Given the description of an element on the screen output the (x, y) to click on. 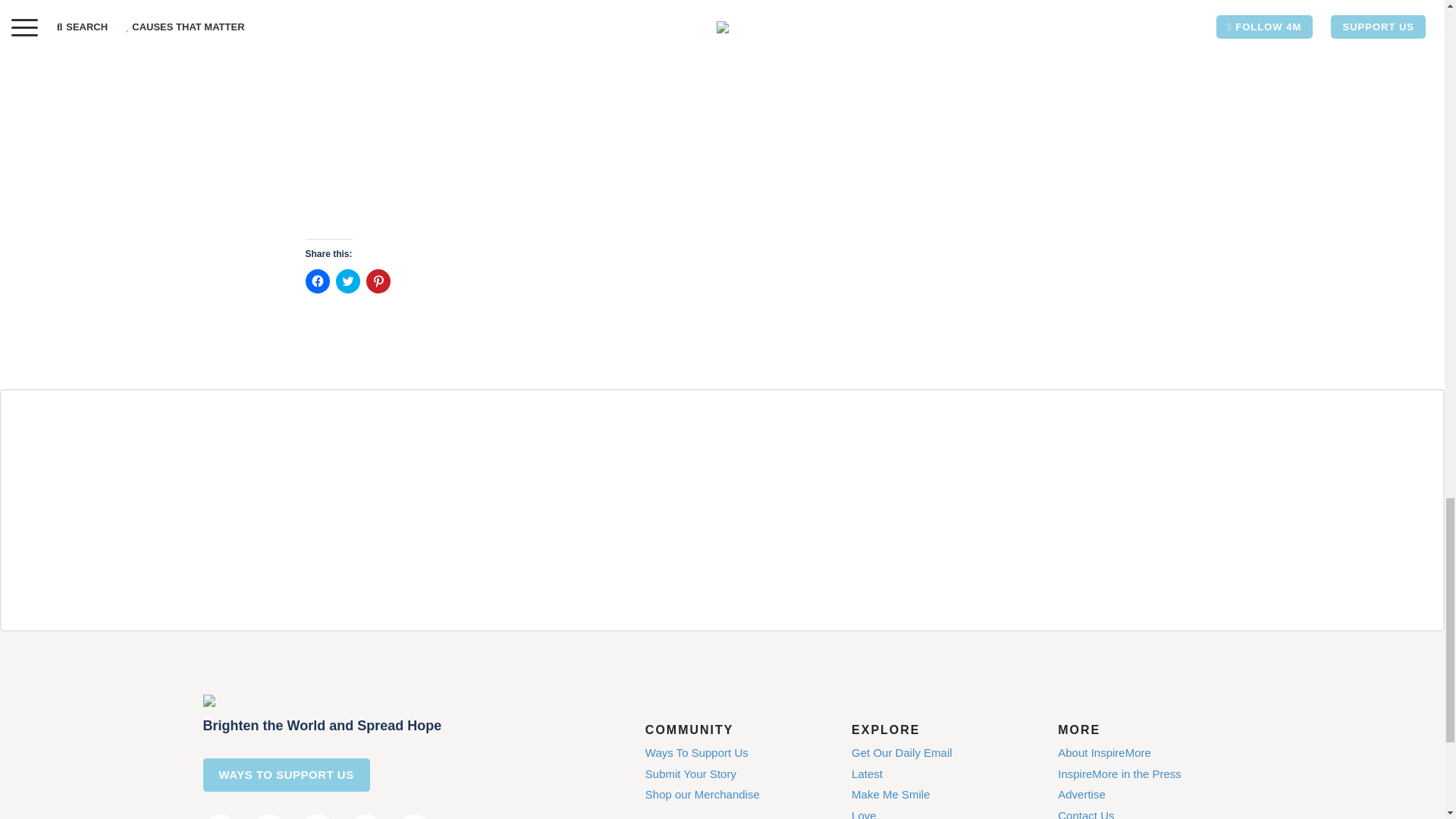
Click to share on Pinterest (377, 281)
Click to share on Facebook (316, 281)
WAYS TO SUPPORT US (286, 775)
Click to share on Twitter (346, 281)
